Given the description of an element on the screen output the (x, y) to click on. 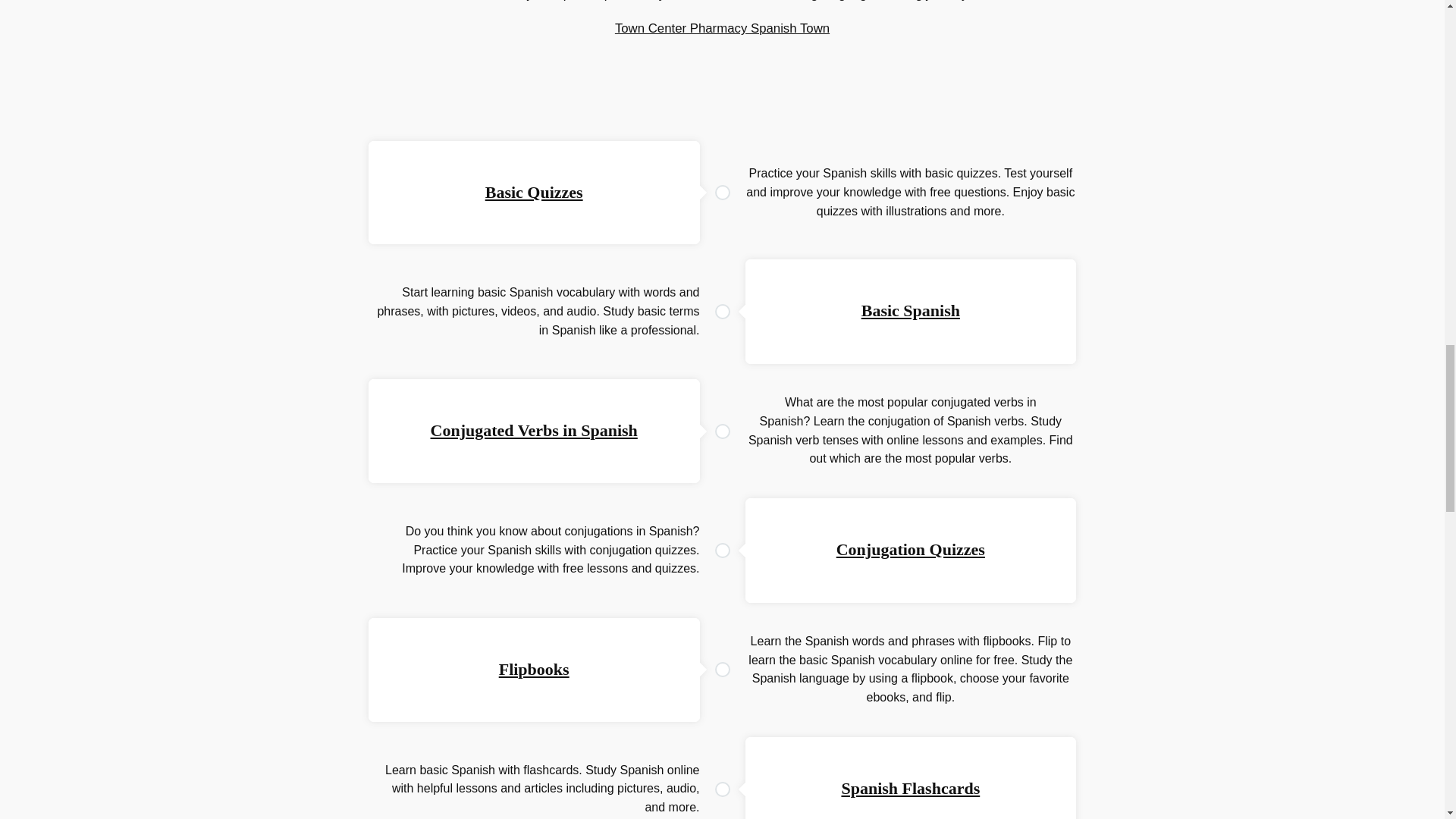
Basic Spanish (910, 310)
Basic Quizzes (533, 191)
Conjugated Verbs in Spanish (533, 429)
Town Center Pharmacy Spanish Town (721, 28)
Spanish Flashcards (910, 787)
Flipbooks (534, 669)
Conjugation Quizzes (910, 548)
